Given the description of an element on the screen output the (x, y) to click on. 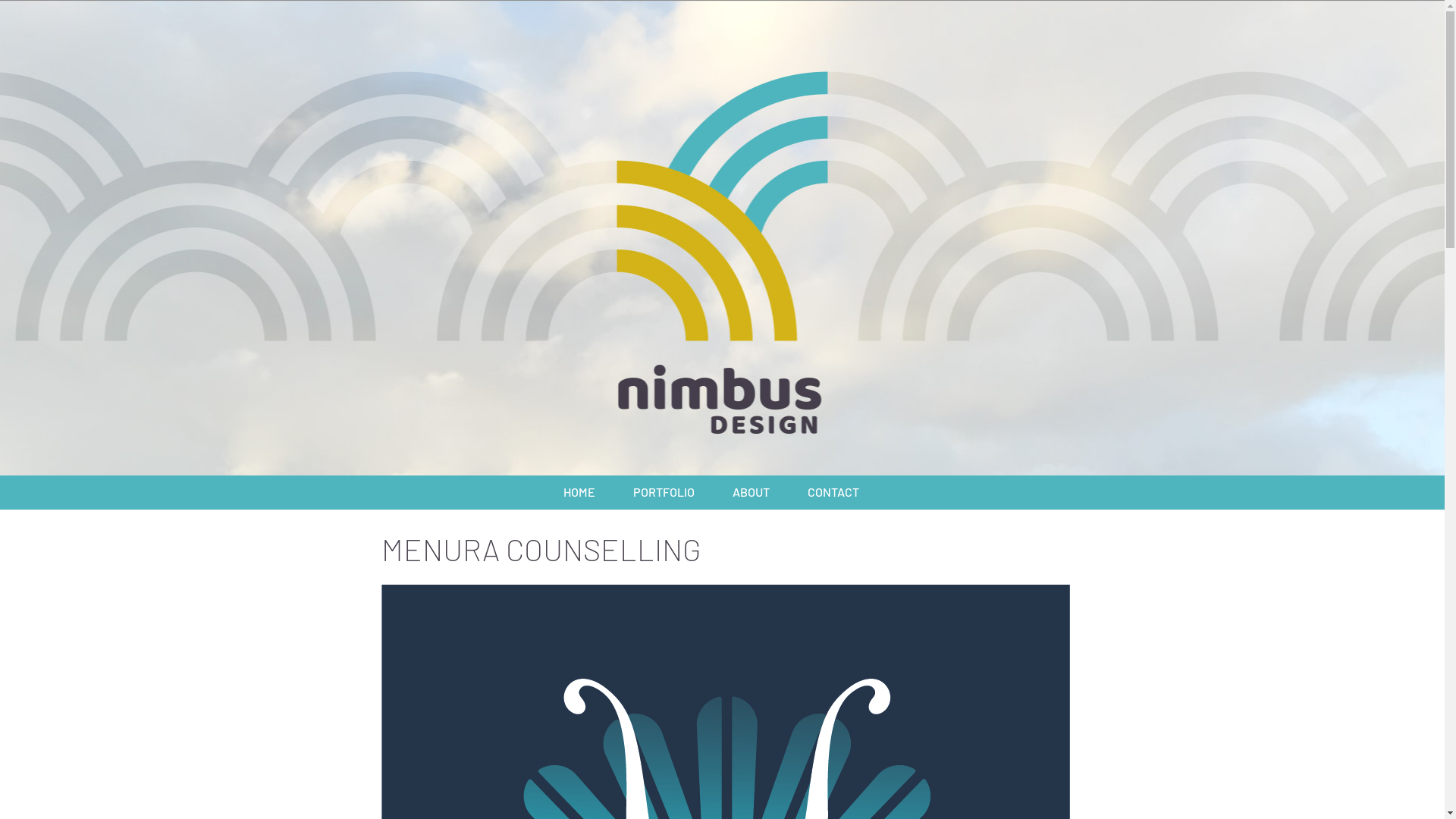
PORTFOLIO Element type: text (662, 491)
ABOUT Element type: text (750, 491)
HOME Element type: text (578, 491)
CONTACT Element type: text (832, 491)
